Given the description of an element on the screen output the (x, y) to click on. 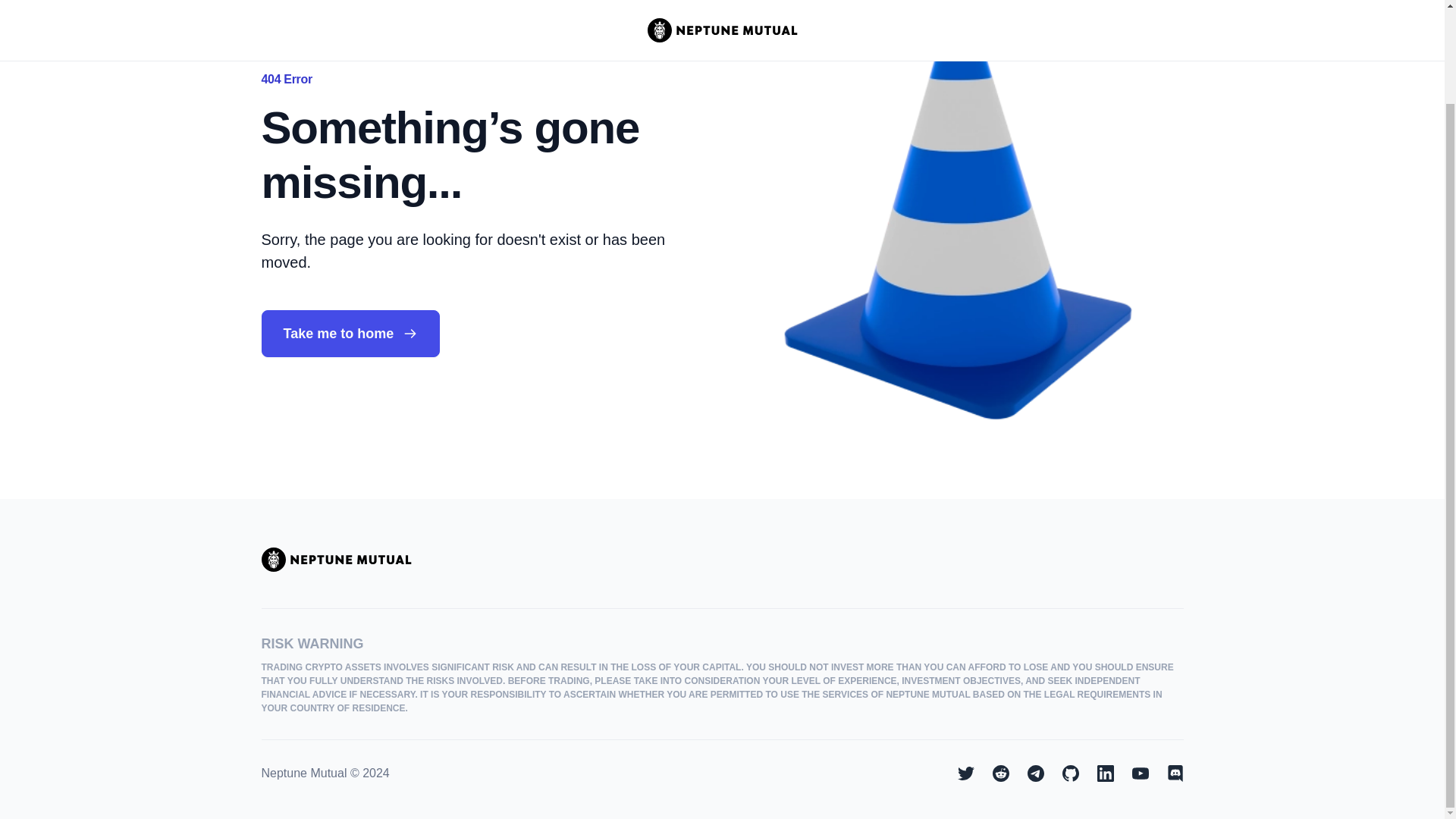
discord (1174, 773)
linkedin (1104, 773)
Neptune Mutual (335, 559)
twitter (965, 773)
Take me to home (349, 333)
github (1069, 773)
telegram (1034, 773)
youtube (1139, 773)
reddit (1000, 773)
